Given the description of an element on the screen output the (x, y) to click on. 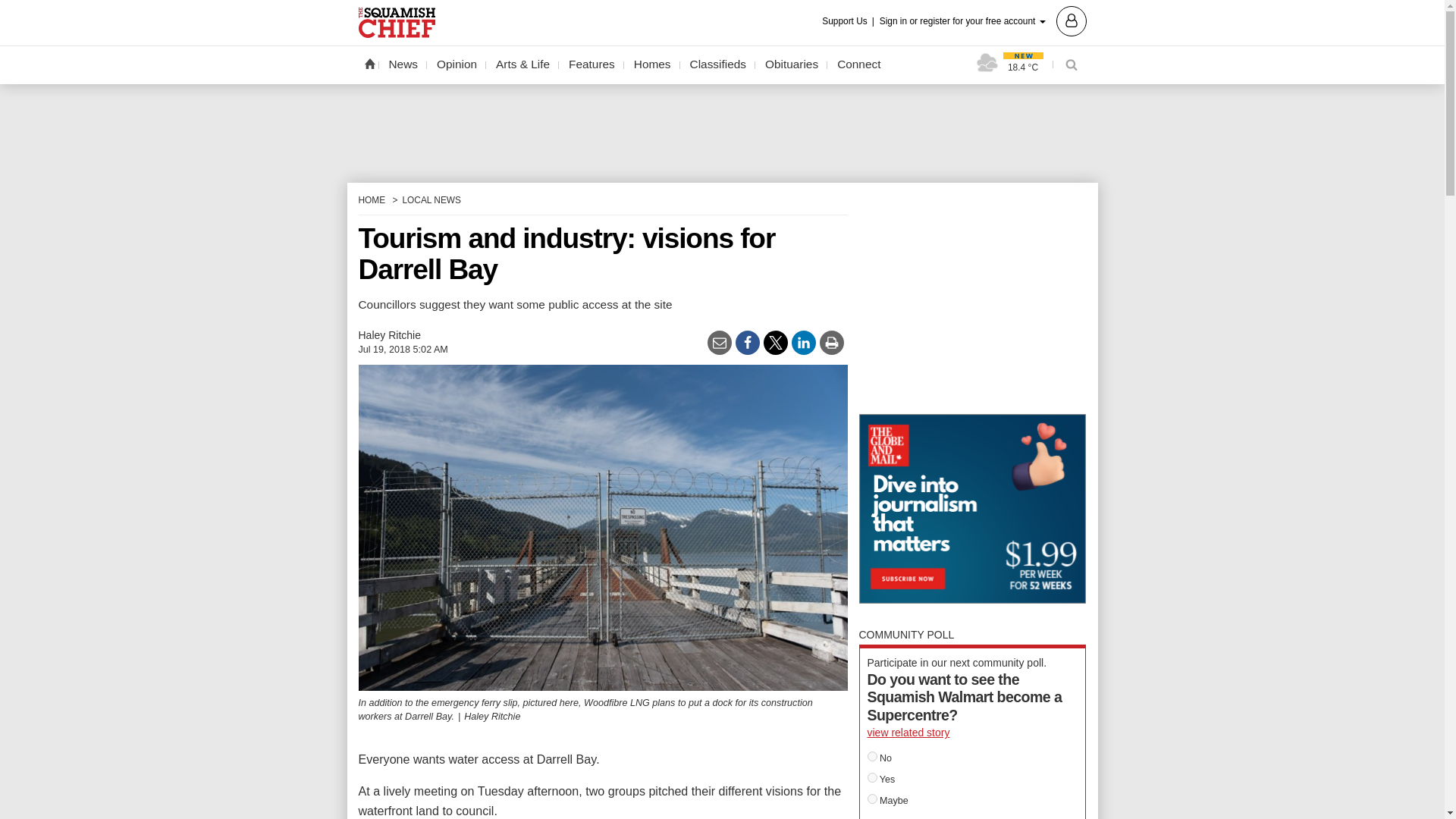
Support Us (849, 21)
123178 (872, 798)
News (403, 64)
Sign in or register for your free account (982, 20)
123177 (872, 756)
Opinion (456, 64)
Home (368, 63)
123176 (872, 777)
